Given the description of an element on the screen output the (x, y) to click on. 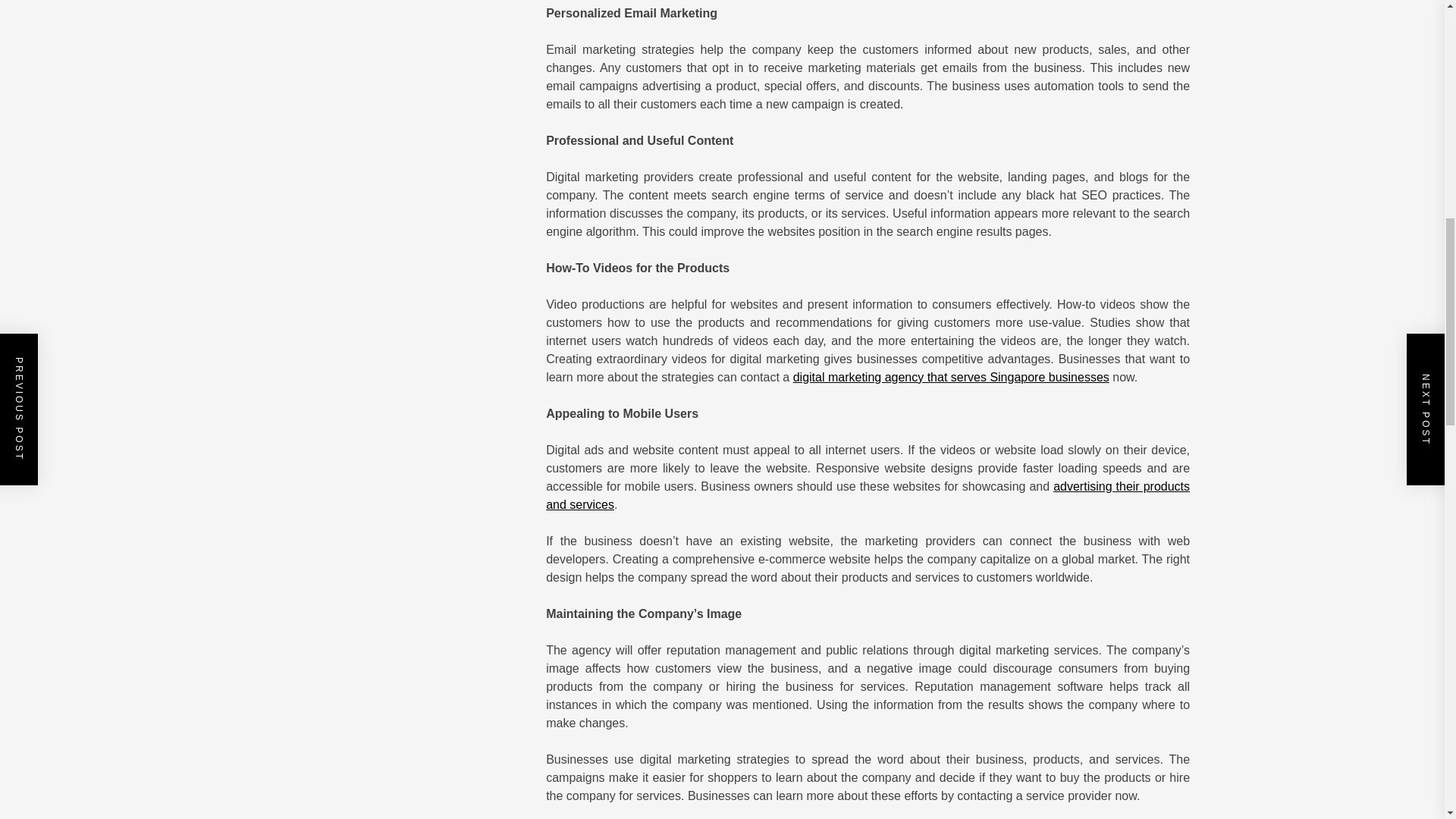
advertising their products and services (867, 495)
digital marketing agency that serves Singapore businesses (951, 377)
